Given the description of an element on the screen output the (x, y) to click on. 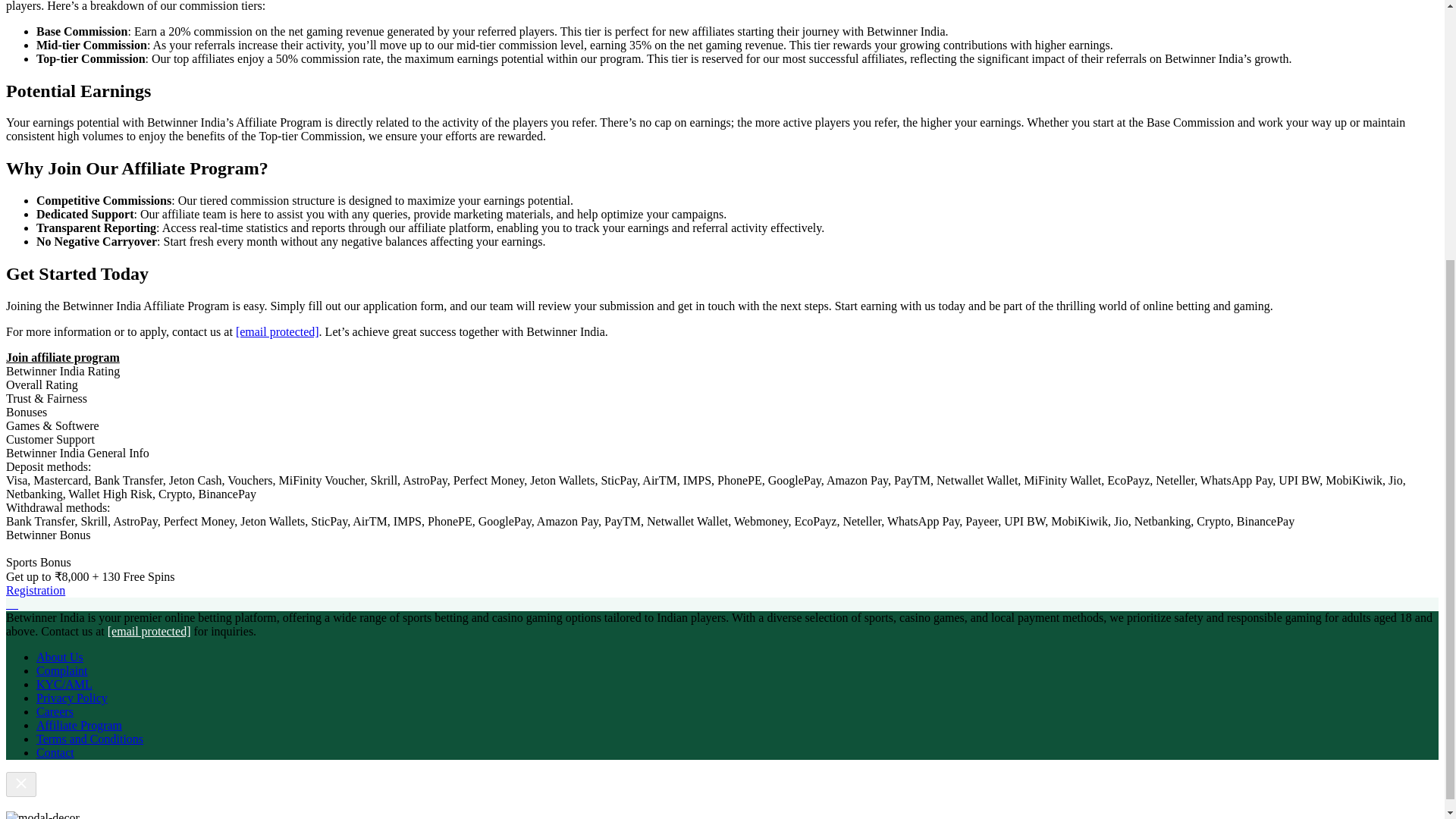
Careers (55, 711)
Contact (55, 752)
Privacy Policy (71, 697)
Terms and Conditions (89, 738)
Join affiliate program (62, 357)
Complaint (61, 670)
Registration (35, 590)
About Us (59, 656)
Affiliate Program (79, 725)
